Given the description of an element on the screen output the (x, y) to click on. 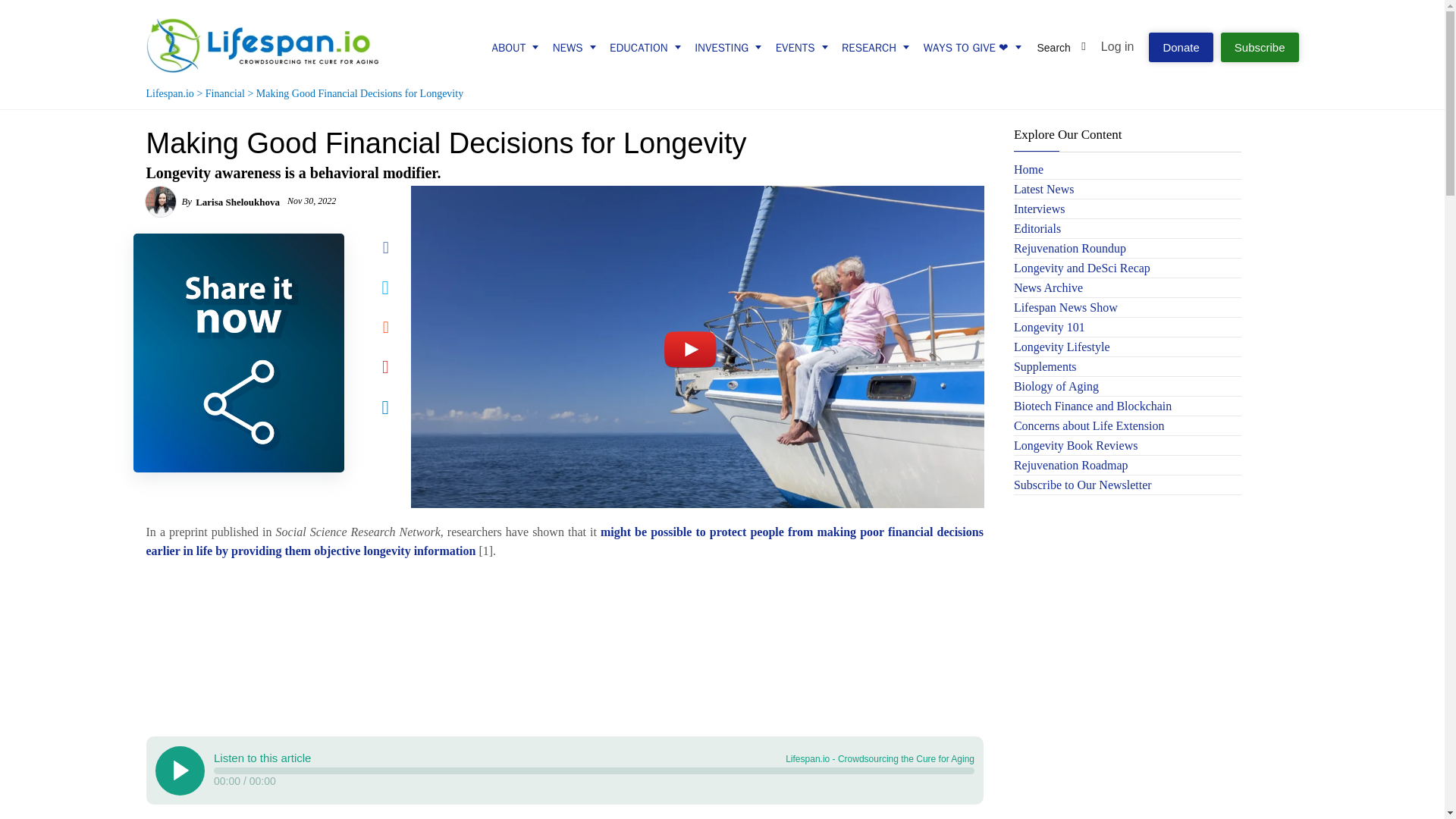
Posts by Larisa Sheloukhova (237, 202)
NEWS (568, 47)
EVENTS (795, 47)
Go to Lifespan.io. (169, 93)
EDUCATION (638, 47)
INVESTING (721, 47)
ABOUT (509, 47)
Go to the Financial Category archives. (224, 93)
